Given the description of an element on the screen output the (x, y) to click on. 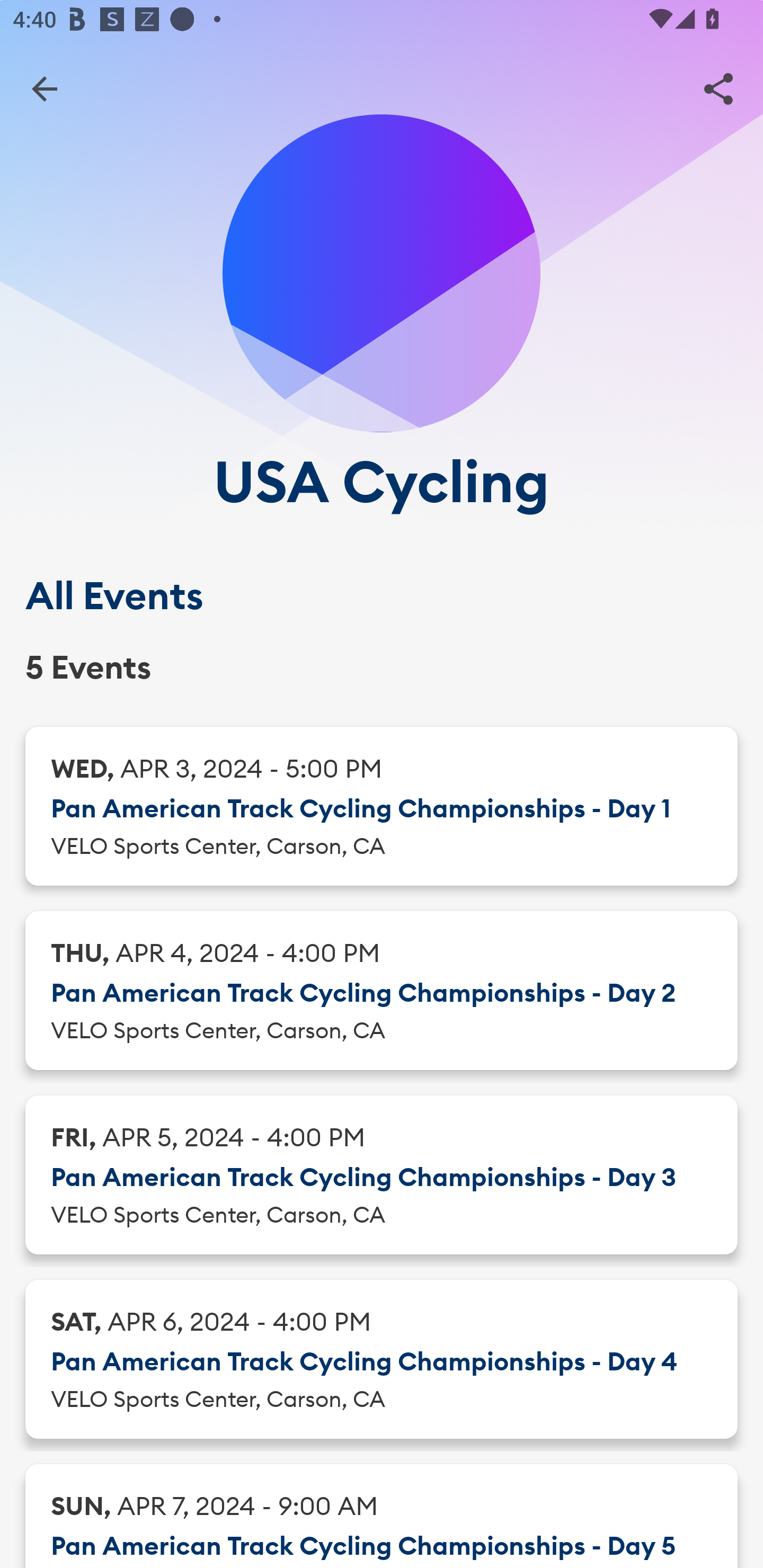
BackButton (44, 88)
Share (718, 88)
